Given the description of an element on the screen output the (x, y) to click on. 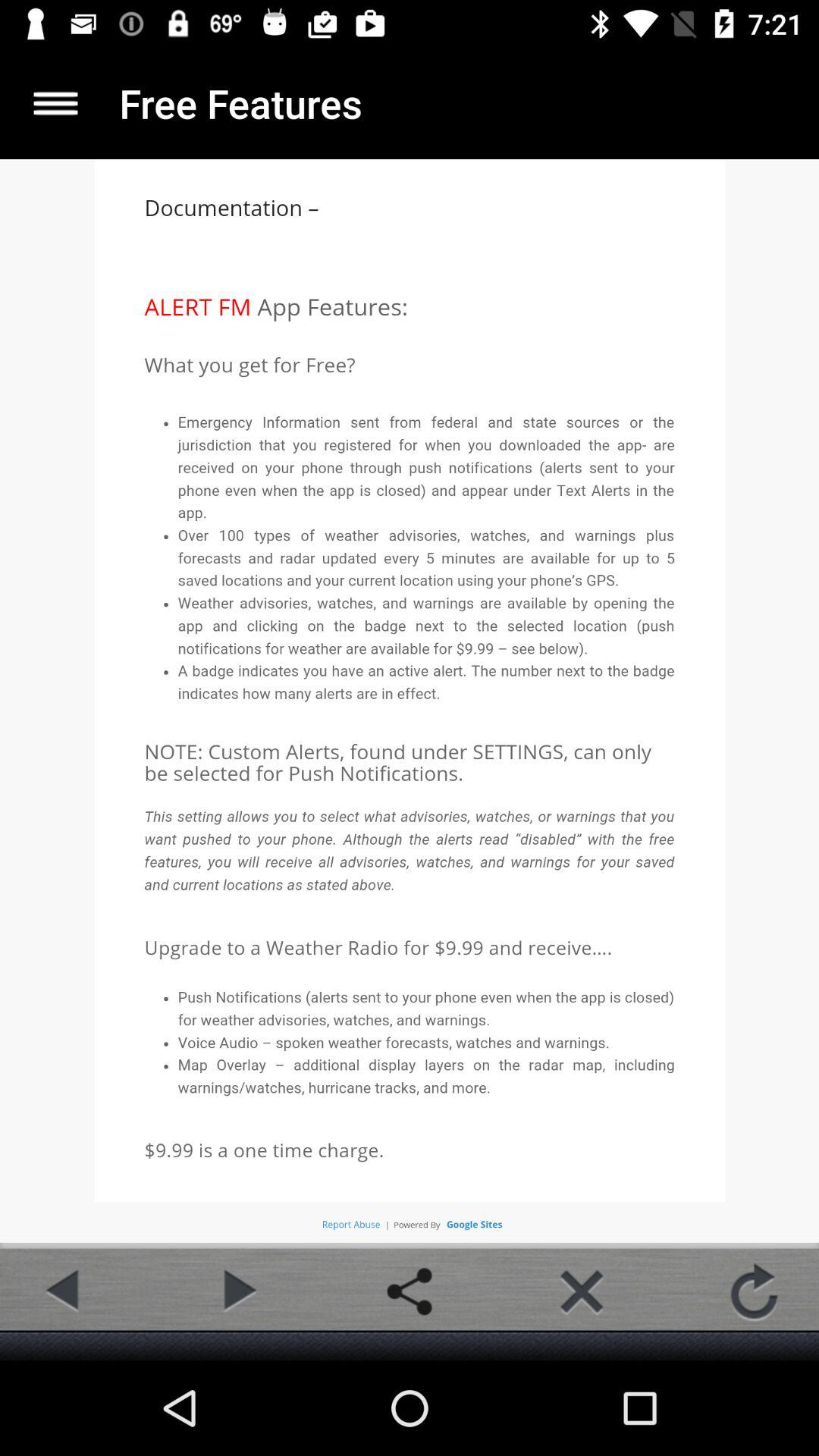
colse button (581, 1291)
